Given the description of an element on the screen output the (x, y) to click on. 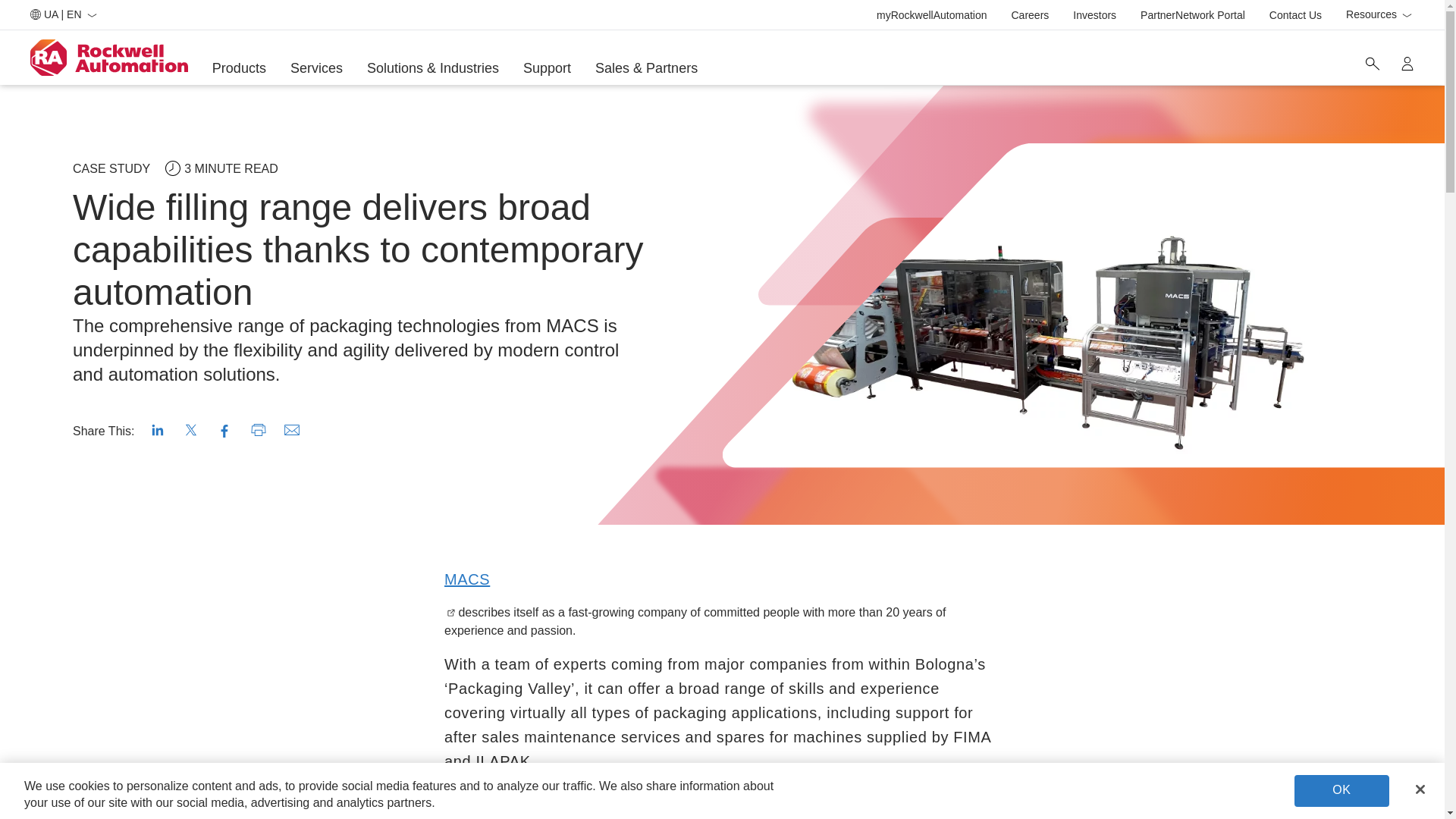
PartnerNetwork Portal (1192, 15)
Careers (1030, 15)
UserUser (1406, 63)
Chevron DownChevron Down (1406, 15)
Opens in a new window (466, 579)
Contact Us (1295, 15)
Products (239, 68)
Investors (1094, 15)
myRockwellAutomation (1379, 15)
SearchSearch (931, 15)
Chevron DownChevron Down (1371, 63)
